Given the description of an element on the screen output the (x, y) to click on. 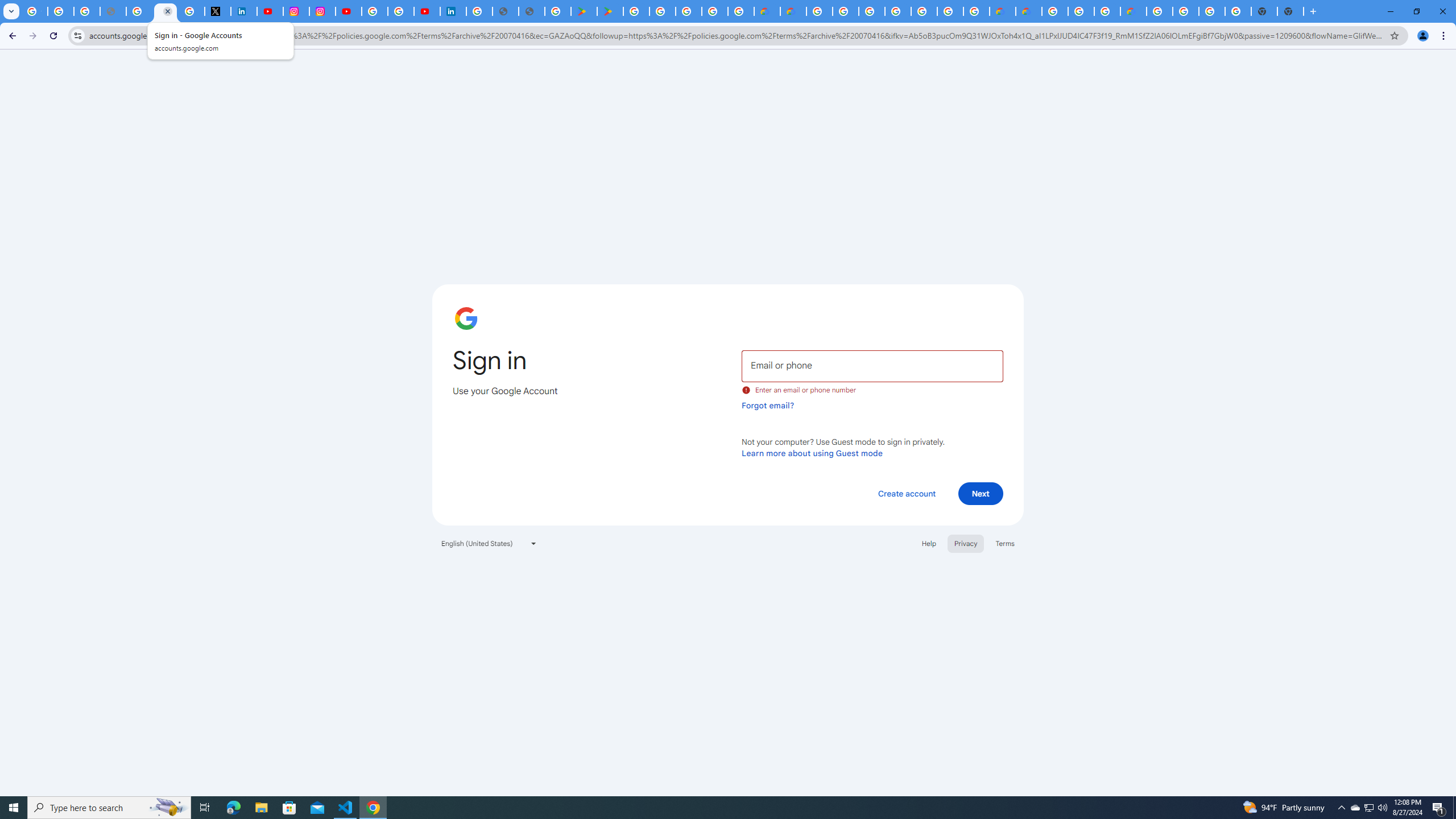
Sign in - Google Accounts (165, 11)
Google Workspace - Specific Terms (740, 11)
support.google.com - Network error (112, 11)
Sign in - Google Accounts (479, 11)
Google Cloud Platform (818, 11)
Email or phone (871, 365)
google_privacy_policy_en.pdf (505, 11)
Identity verification via Persona | LinkedIn Help (453, 11)
